Given the description of an element on the screen output the (x, y) to click on. 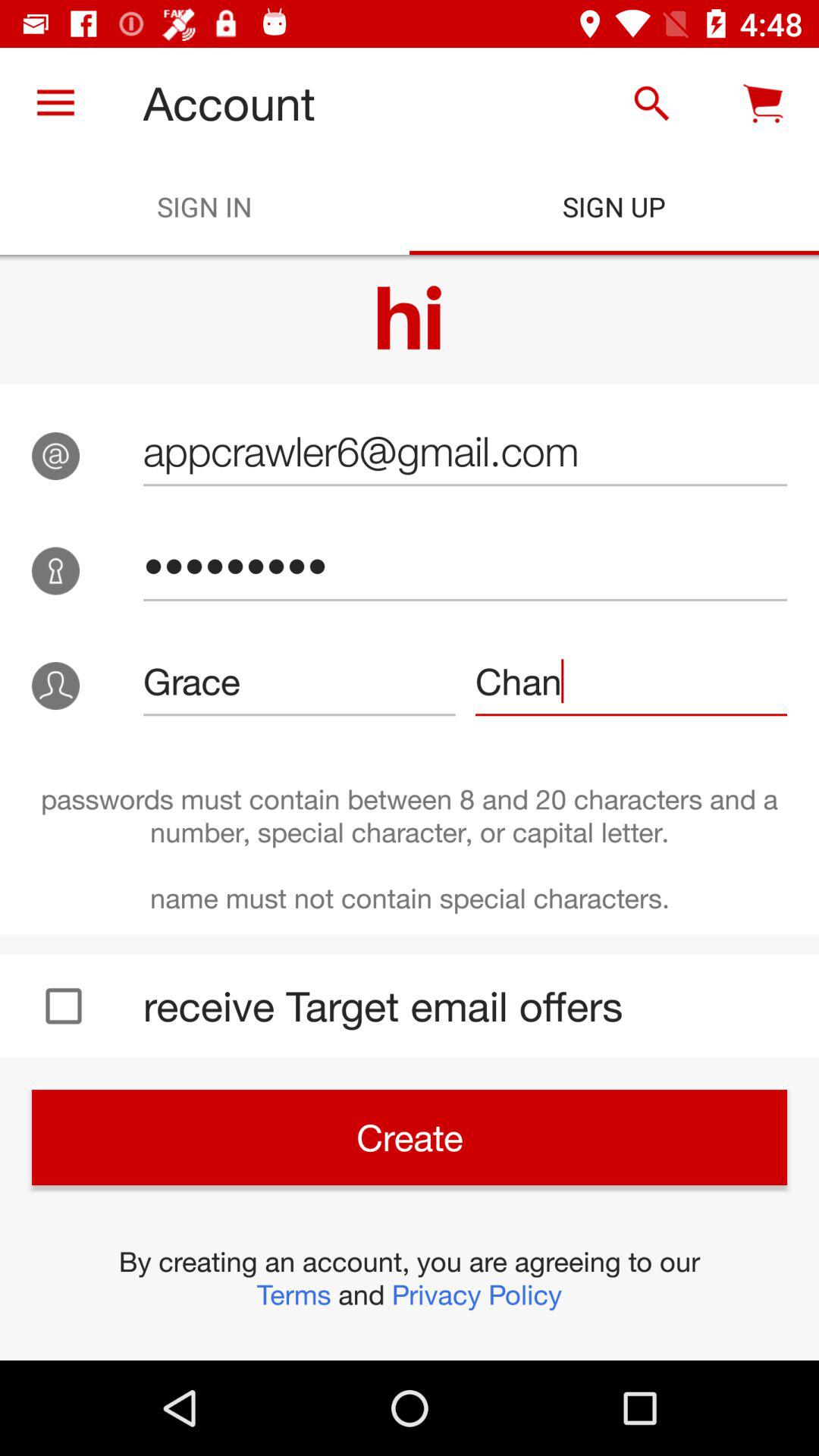
launch icon above the grace item (465, 566)
